Given the description of an element on the screen output the (x, y) to click on. 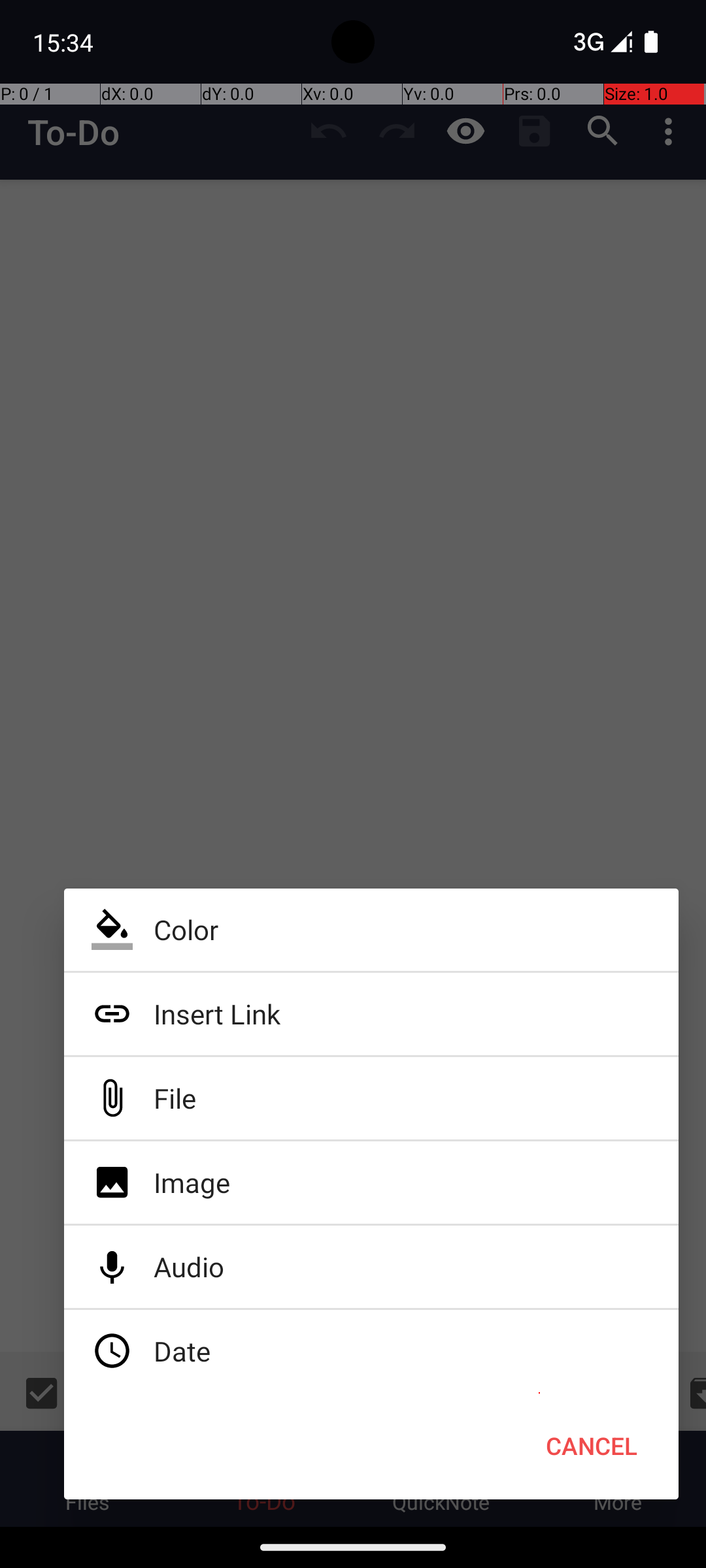
File Element type: android.widget.TextView (371, 1098)
Image Element type: android.widget.TextView (371, 1182)
